Given the description of an element on the screen output the (x, y) to click on. 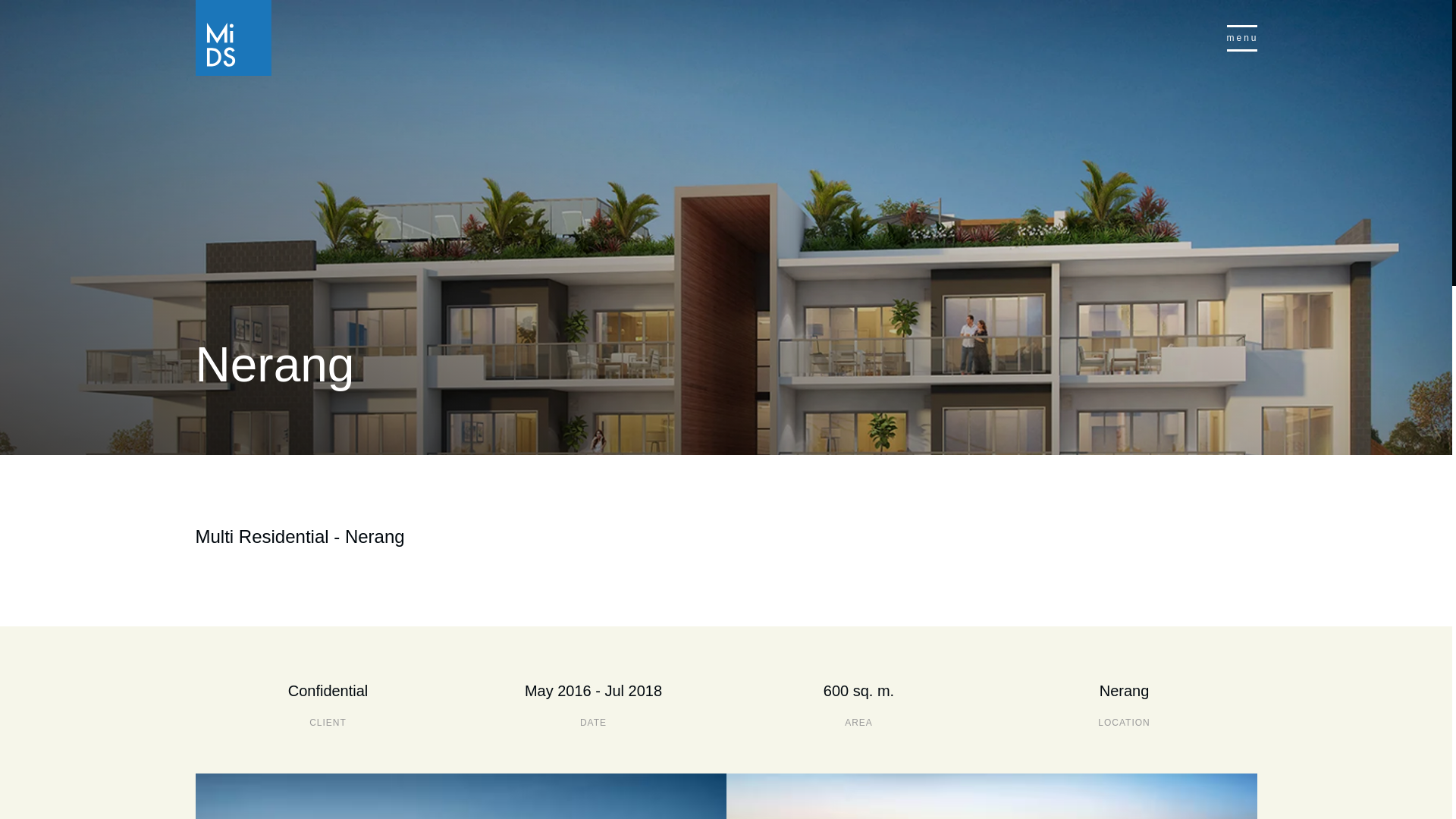
menu Element type: text (1241, 37)
